Given the description of an element on the screen output the (x, y) to click on. 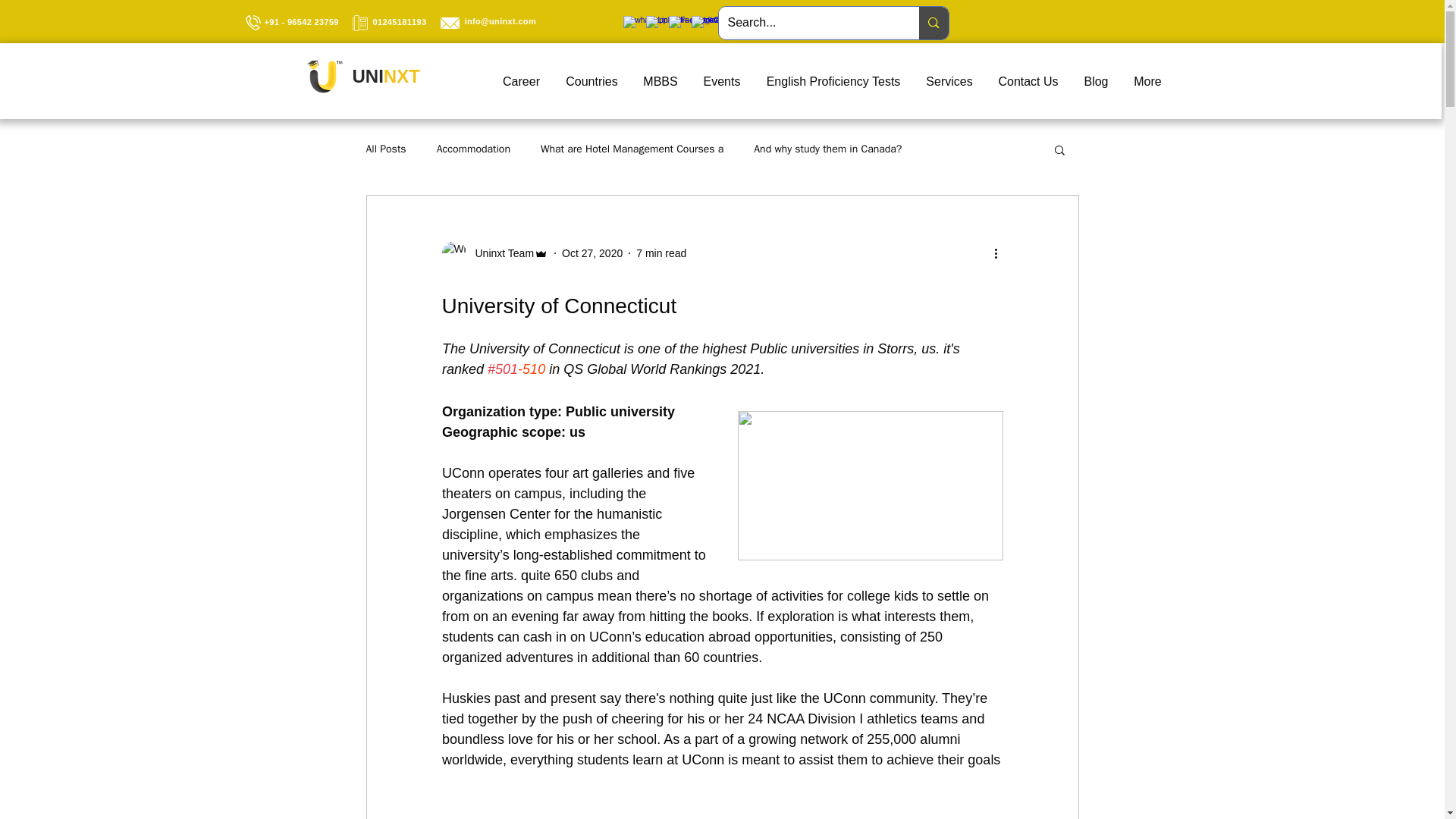
Oct 27, 2020 (592, 253)
Uninxt Team (499, 253)
Career (521, 81)
Contact Us (1028, 81)
MBBS (660, 81)
Events (721, 81)
Blog (1095, 81)
Countries (591, 81)
UNINXT (385, 76)
English Proficiency Tests (834, 81)
7 min read (660, 253)
Services (948, 81)
